Given the description of an element on the screen output the (x, y) to click on. 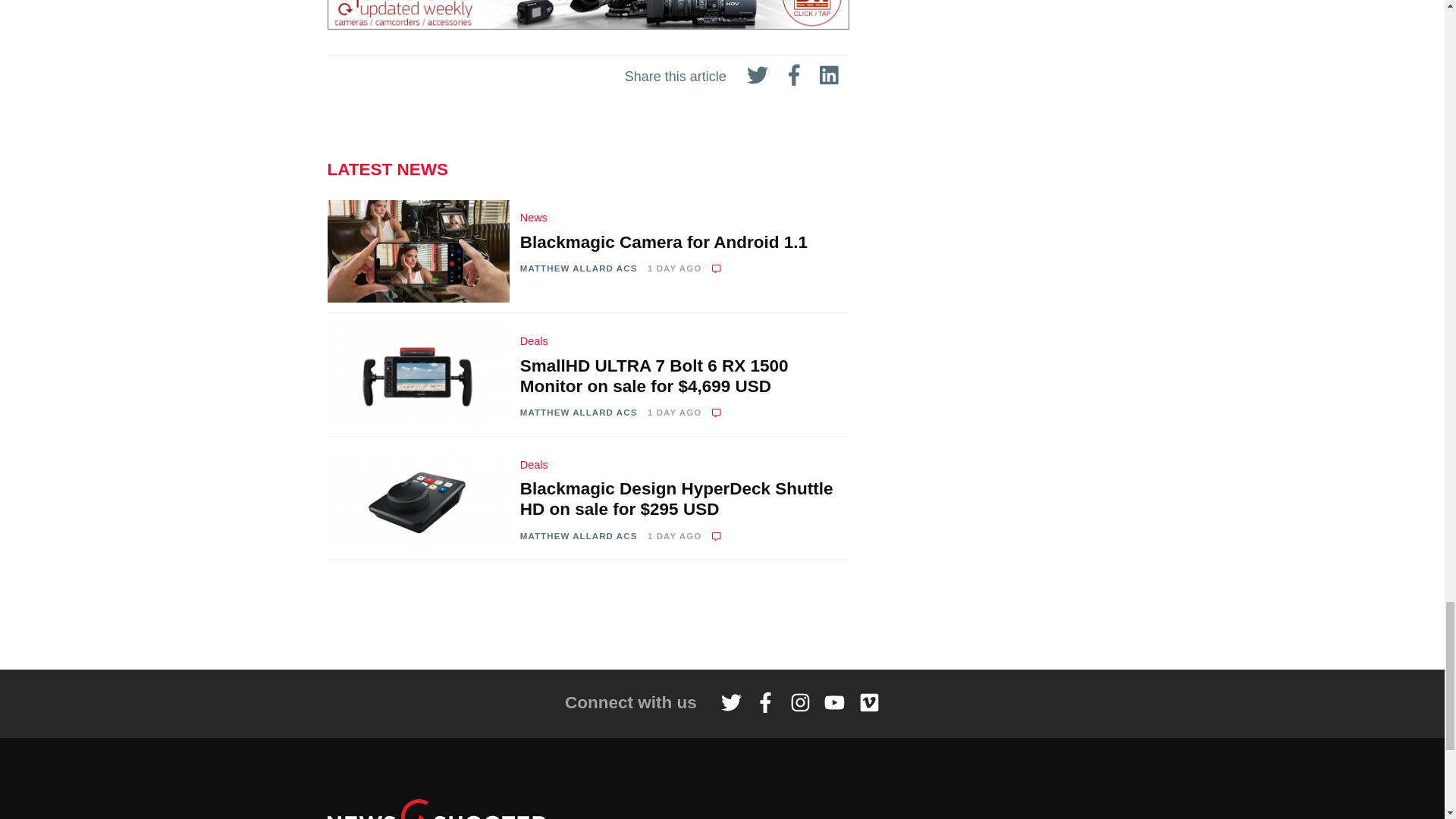
3rd party ad content (721, 614)
